Given the description of an element on the screen output the (x, y) to click on. 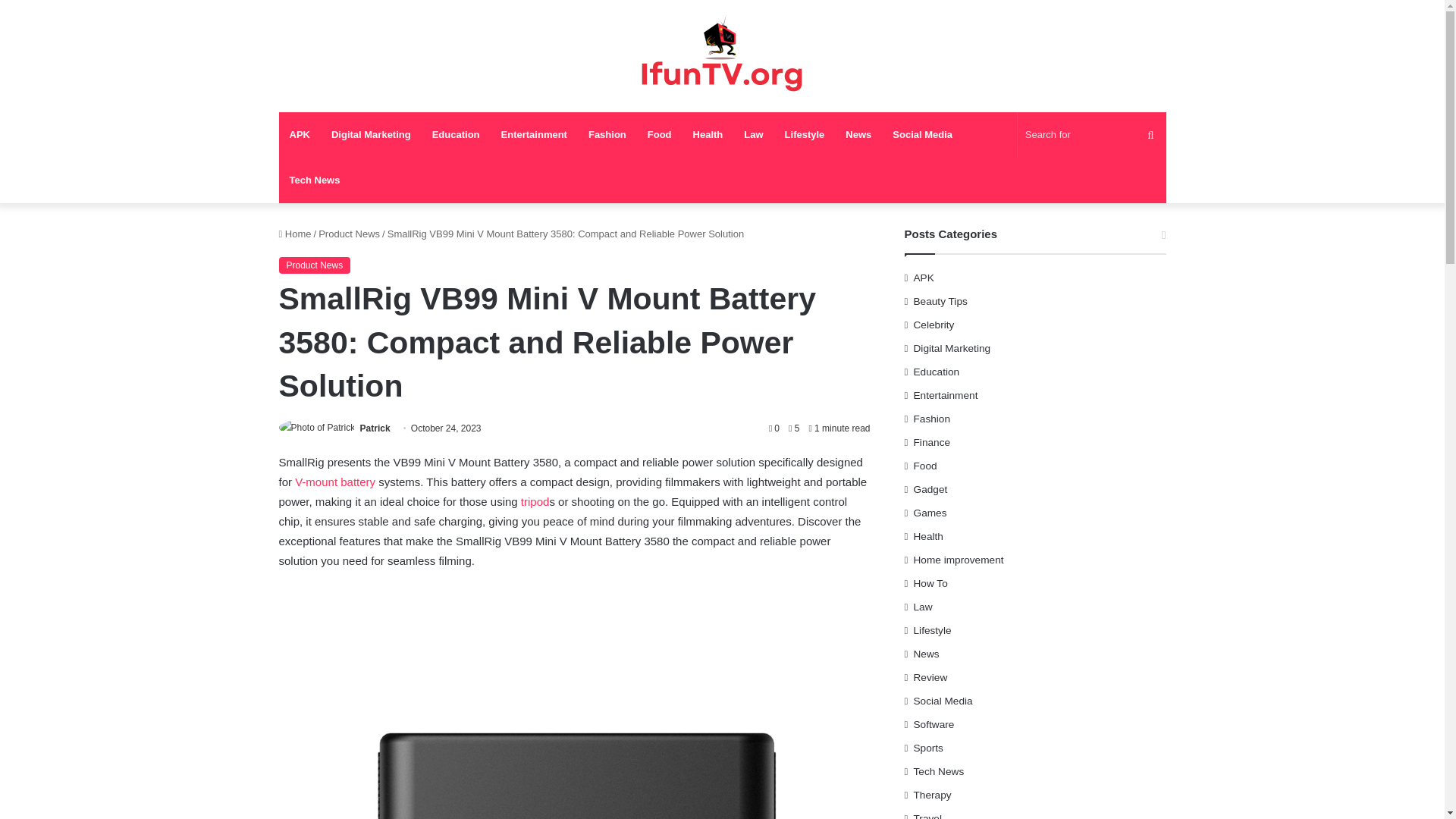
Home (295, 233)
Product News (314, 265)
Lifestyle (804, 135)
Food (659, 135)
Education (456, 135)
Entertainment (534, 135)
Tech News (314, 180)
Search for (1091, 135)
tripod (535, 501)
News (858, 135)
Digital Marketing (371, 135)
Social Media (922, 135)
Patrick (374, 428)
Fashion (607, 135)
Product News (349, 233)
